Given the description of an element on the screen output the (x, y) to click on. 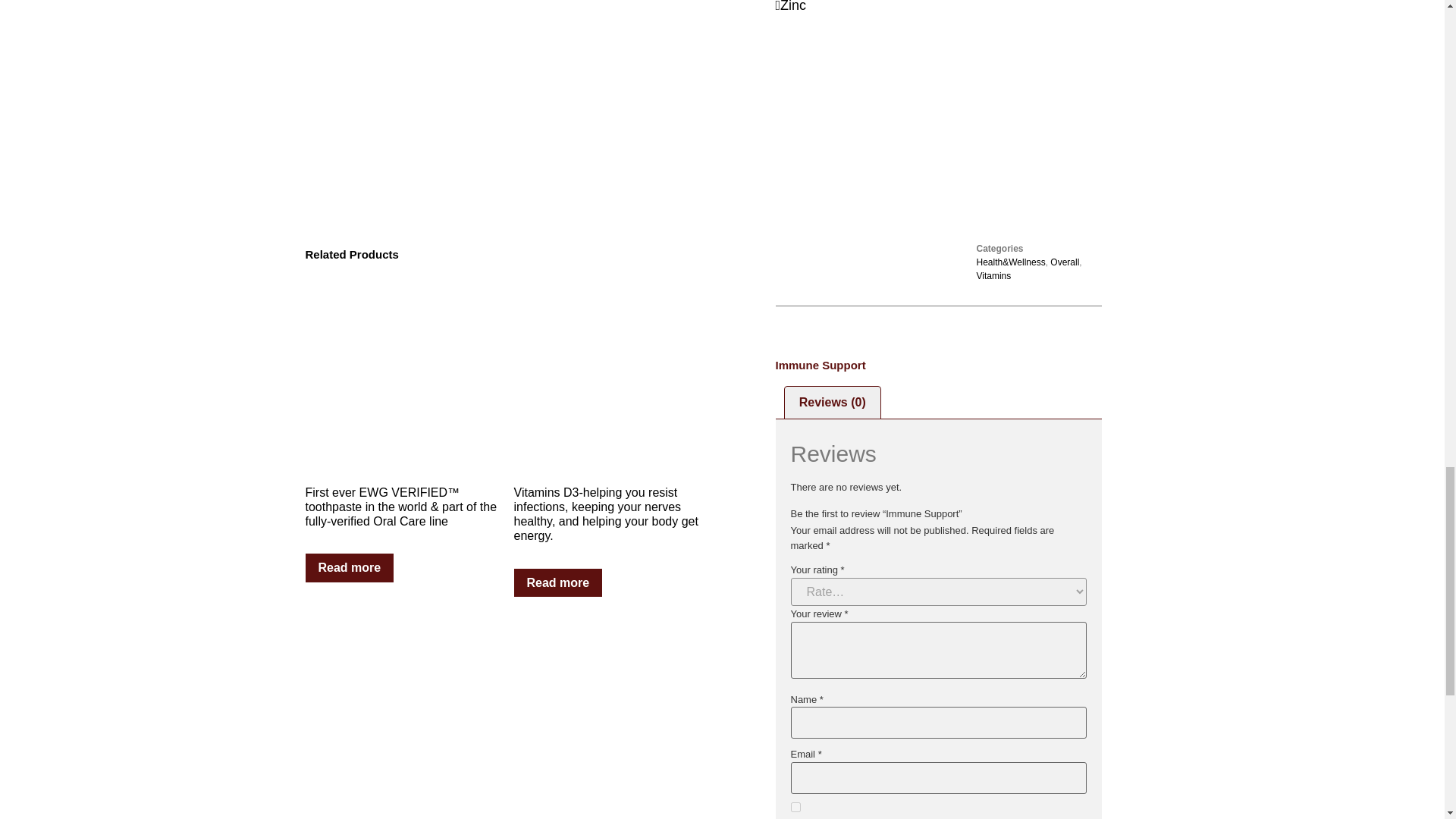
yes (794, 807)
